Given the description of an element on the screen output the (x, y) to click on. 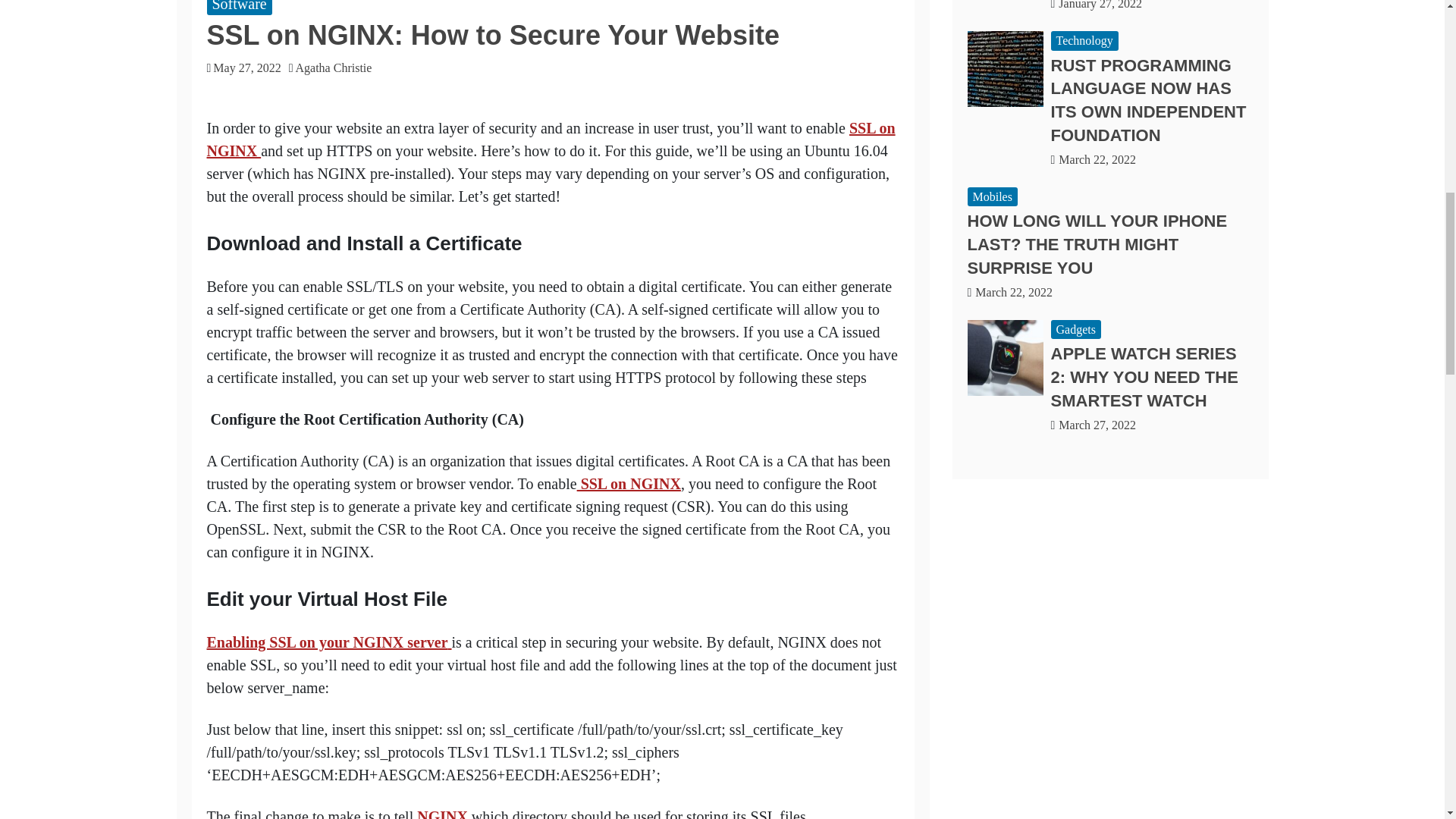
Software (238, 7)
NGINX (441, 813)
Agatha Christie (337, 67)
Enabling SSL on your NGINX server (328, 641)
SSL on NGINX (628, 483)
May 27, 2022 (246, 67)
SSL on NGINX (550, 138)
